Given the description of an element on the screen output the (x, y) to click on. 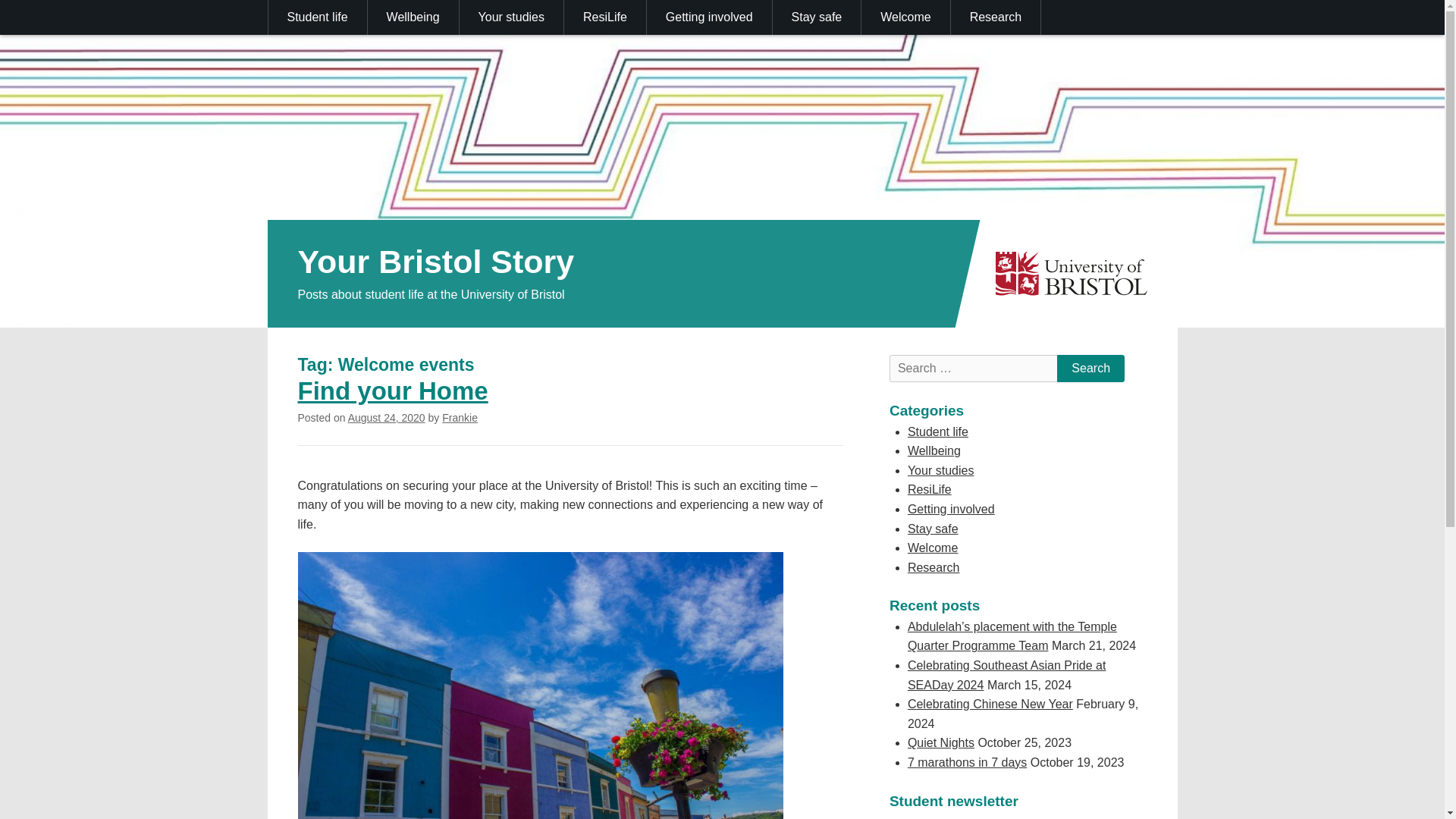
Search (1090, 368)
ResiLife (929, 489)
Celebrating Chinese New Year (990, 703)
7 marathons in 7 days (966, 762)
Your Bristol Story (435, 261)
Frankie (459, 417)
Your studies (512, 17)
Search (1090, 368)
Welcome (905, 17)
Find your Home (392, 390)
